Given the description of an element on the screen output the (x, y) to click on. 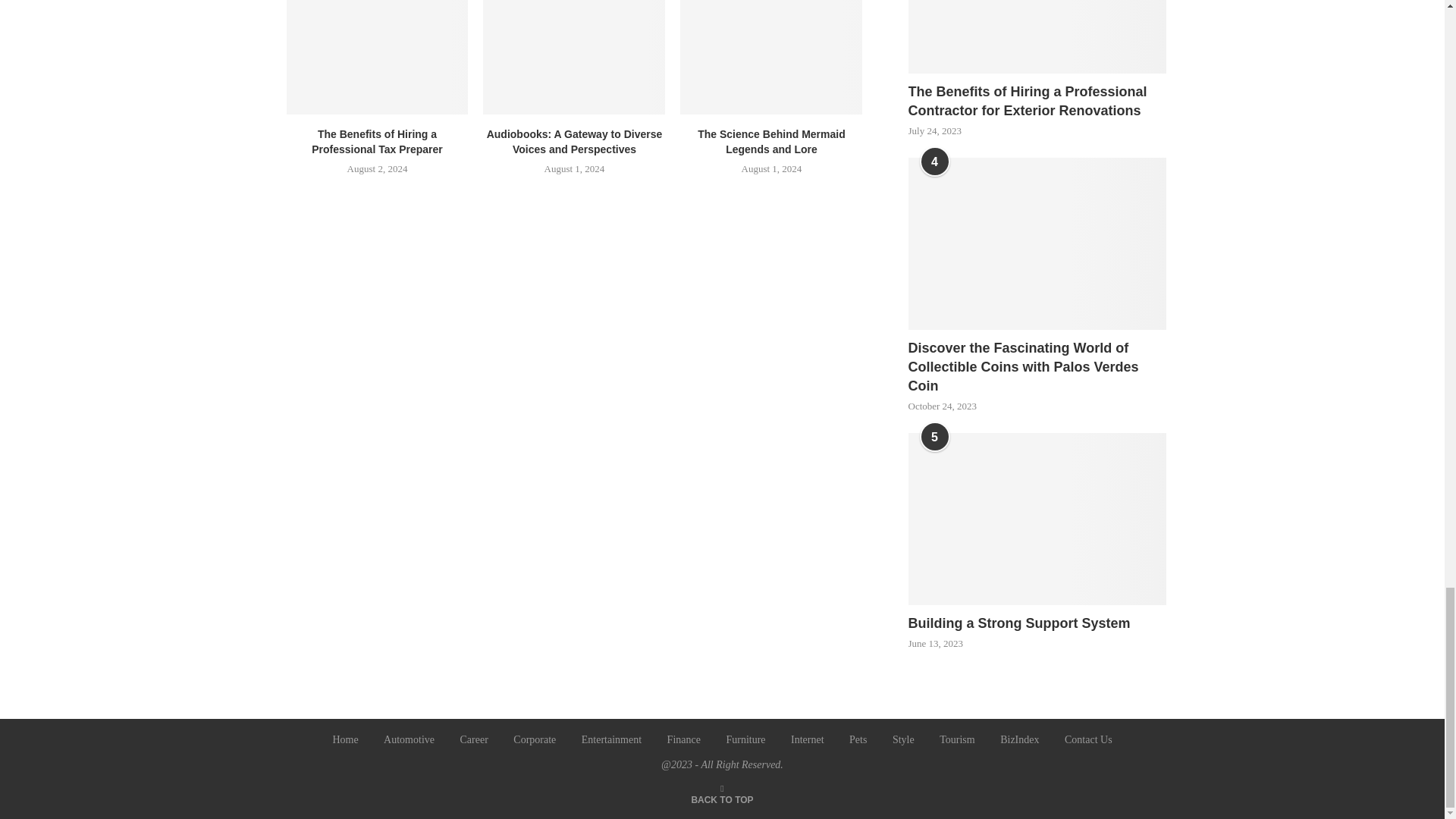
The Science Behind Mermaid Legends and Lore (770, 57)
The Benefits of Hiring a Professional Tax Preparer (377, 57)
Audiobooks: A Gateway to Diverse Voices and Perspectives (574, 57)
